Given the description of an element on the screen output the (x, y) to click on. 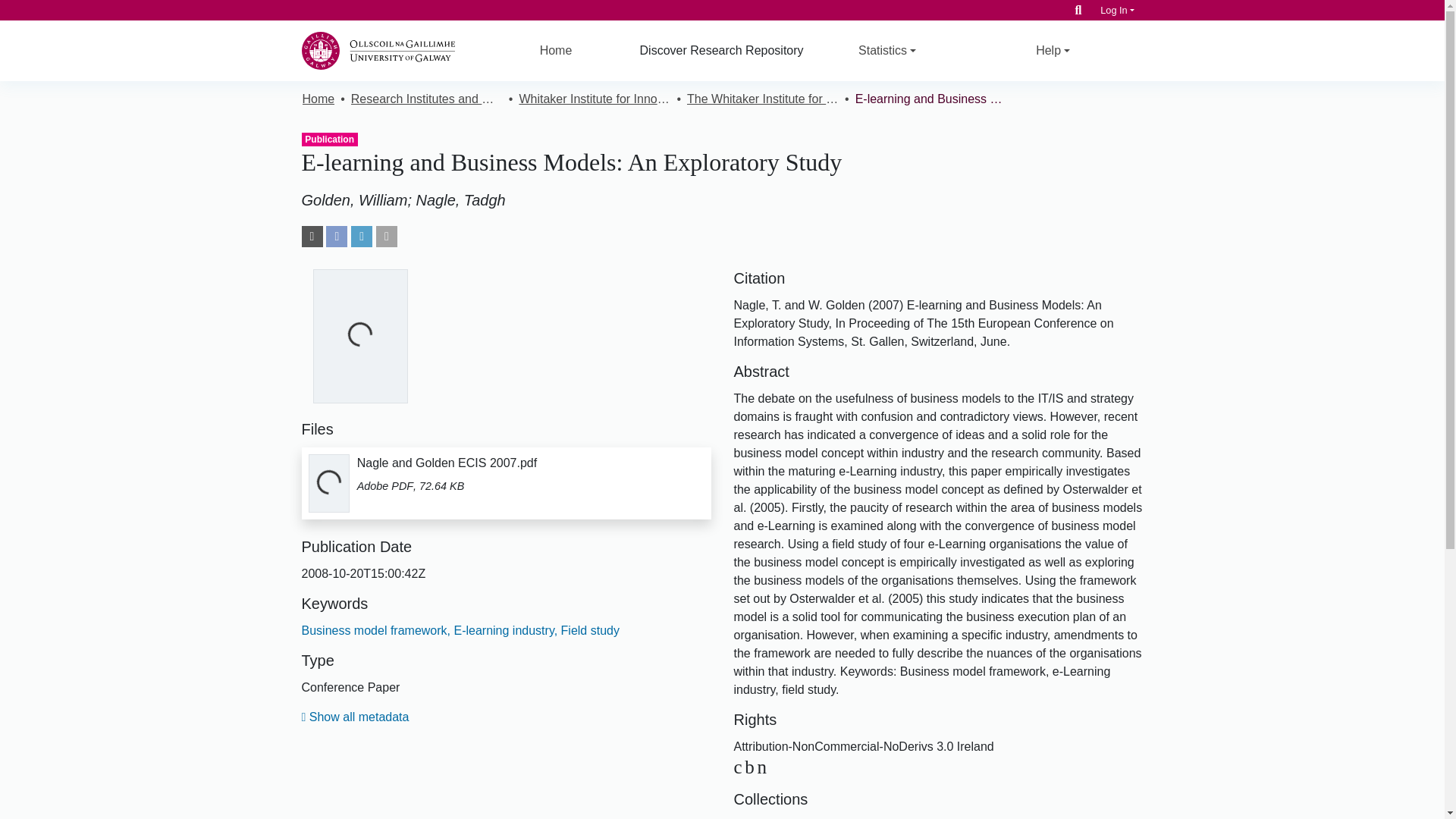
Business model framework, (376, 630)
E-learning industry, (503, 630)
cbn (751, 766)
Statistics (888, 50)
Home (556, 50)
Research Institutes and Centres (426, 99)
Search (1078, 10)
Attribution-NonCommercial-NoDerivs 3.0 Ireland (751, 766)
Log In (1117, 9)
